Given the description of an element on the screen output the (x, y) to click on. 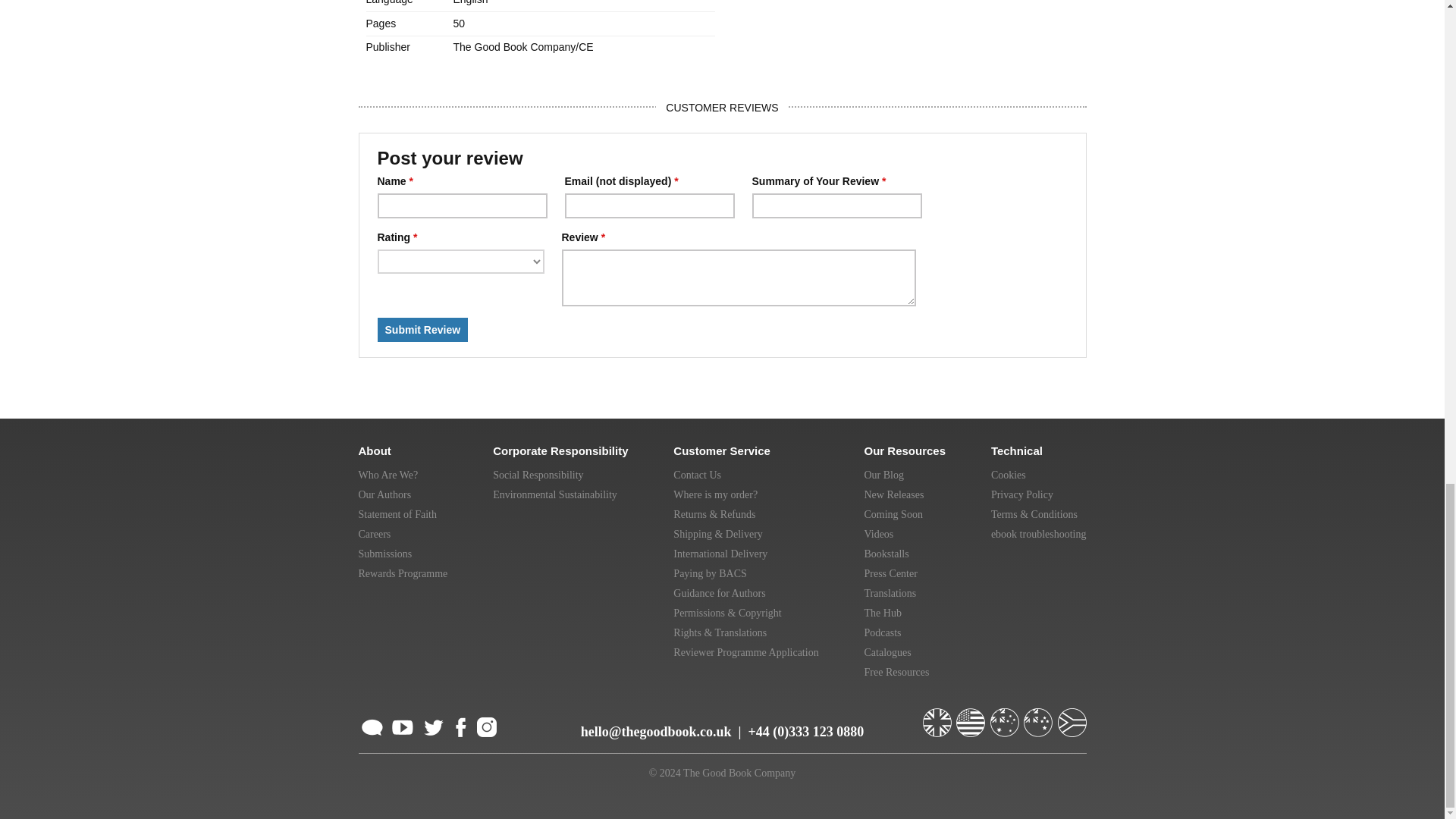
Subscribe to feed (371, 725)
Submit Review (422, 329)
Go to Australia Website (1006, 715)
Go to UK Website (937, 715)
Go to South Africa Website (1071, 715)
Go to New Zealand Website (1039, 715)
Go to US Website (972, 715)
